Given the description of an element on the screen output the (x, y) to click on. 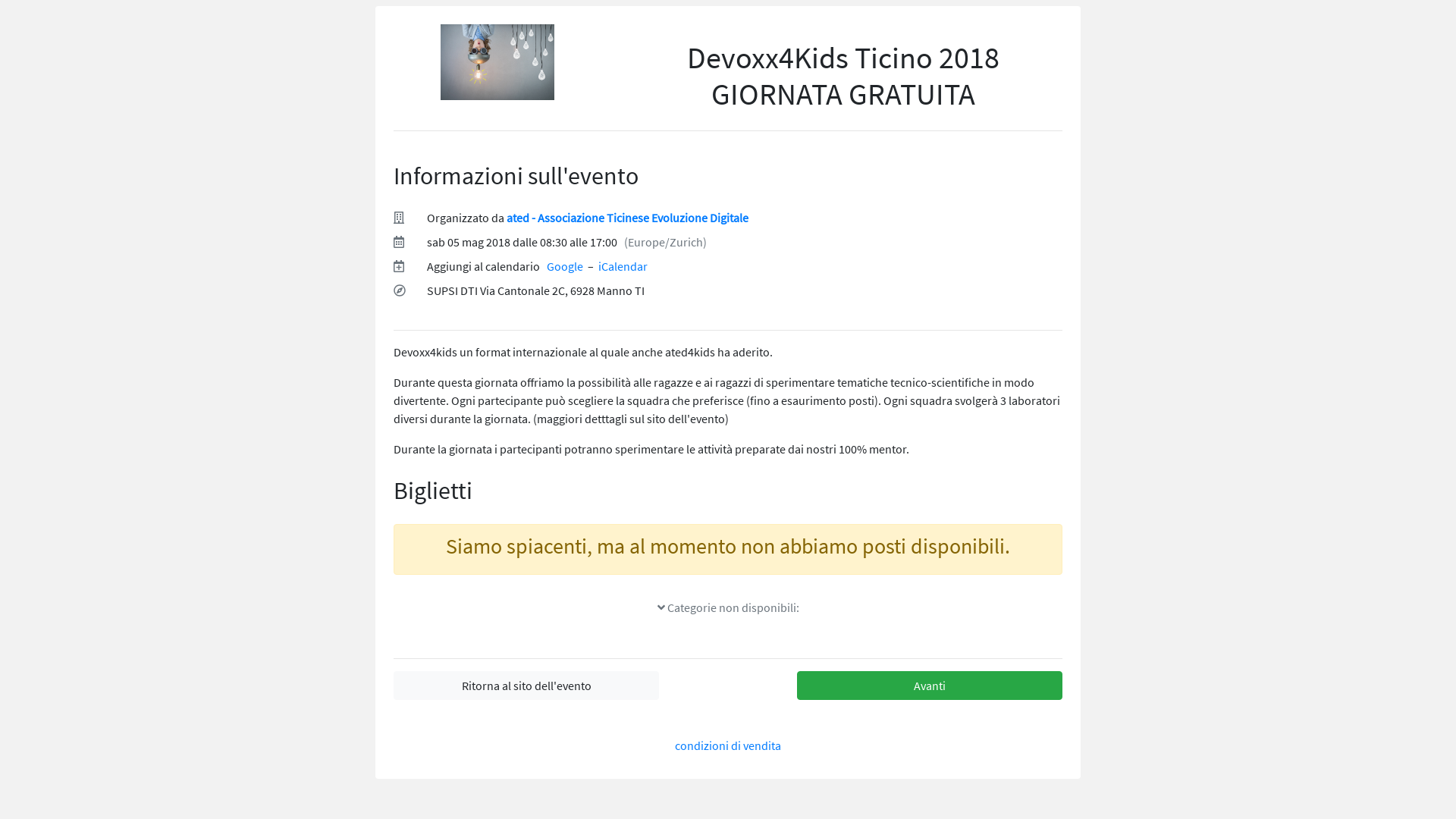
ated - Associazione Ticinese Evoluzione Digitale Element type: text (627, 217)
Google Element type: text (564, 265)
iCalendar Element type: text (622, 265)
condizioni di vendita Element type: text (727, 745)
Ritorna al sito dell'evento Element type: text (525, 685)
 Categorie non disponibili: Element type: text (728, 607)
Avanti Element type: text (929, 685)
